Given the description of an element on the screen output the (x, y) to click on. 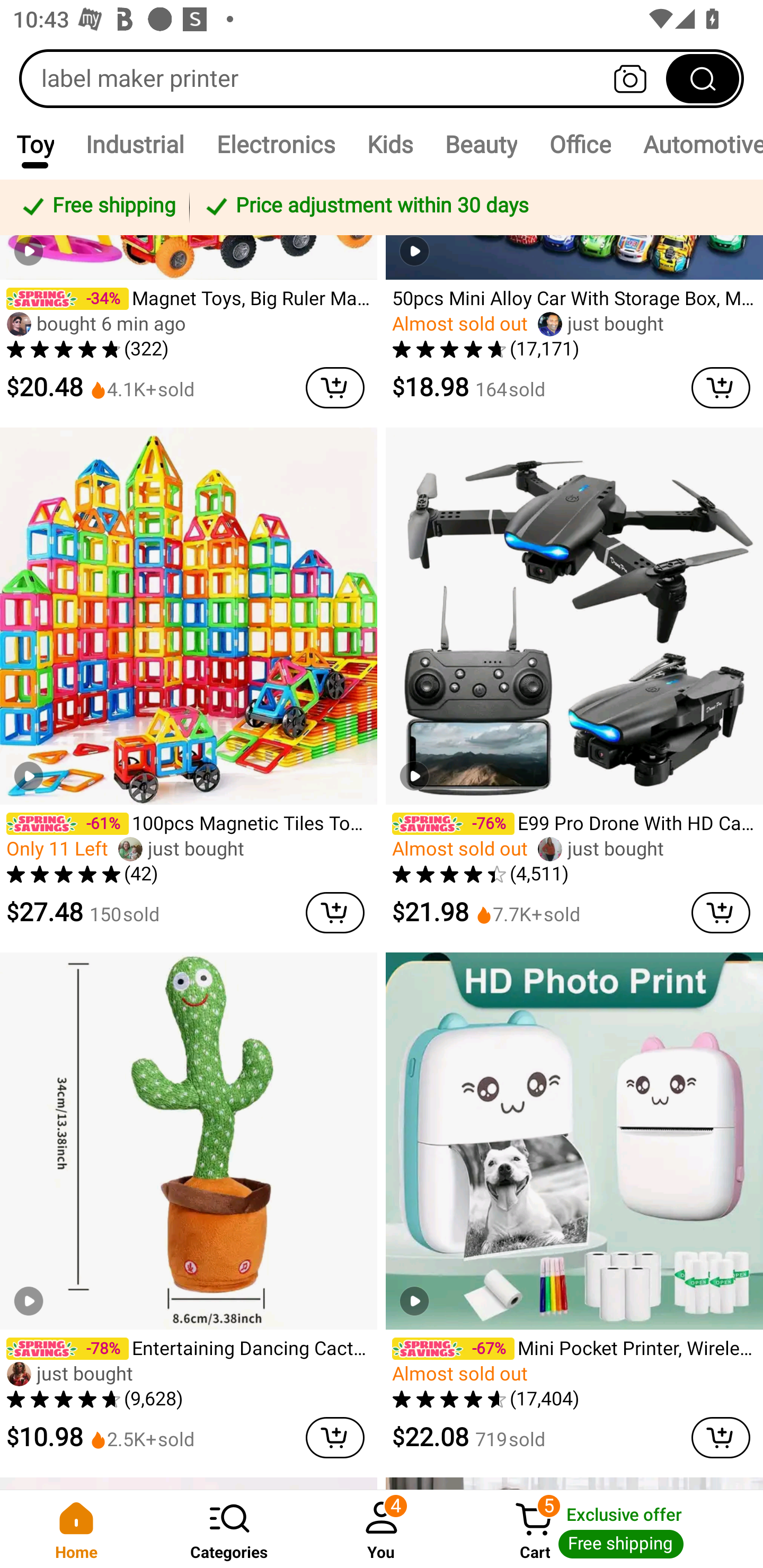
label maker printer (381, 78)
Toy (35, 144)
Industrial (134, 144)
Electronics (274, 144)
Kids (389, 144)
Beauty (480, 144)
Office (580, 144)
Automotive (695, 144)
Free shipping (97, 206)
Price adjustment within 30 days (472, 206)
cart delete (334, 386)
cart delete (720, 386)
cart delete (334, 912)
cart delete (720, 912)
cart delete (334, 1437)
cart delete (720, 1437)
Home (76, 1528)
Categories (228, 1528)
You 4 You (381, 1528)
Cart 5 Cart Exclusive offer (610, 1528)
